Given the description of an element on the screen output the (x, y) to click on. 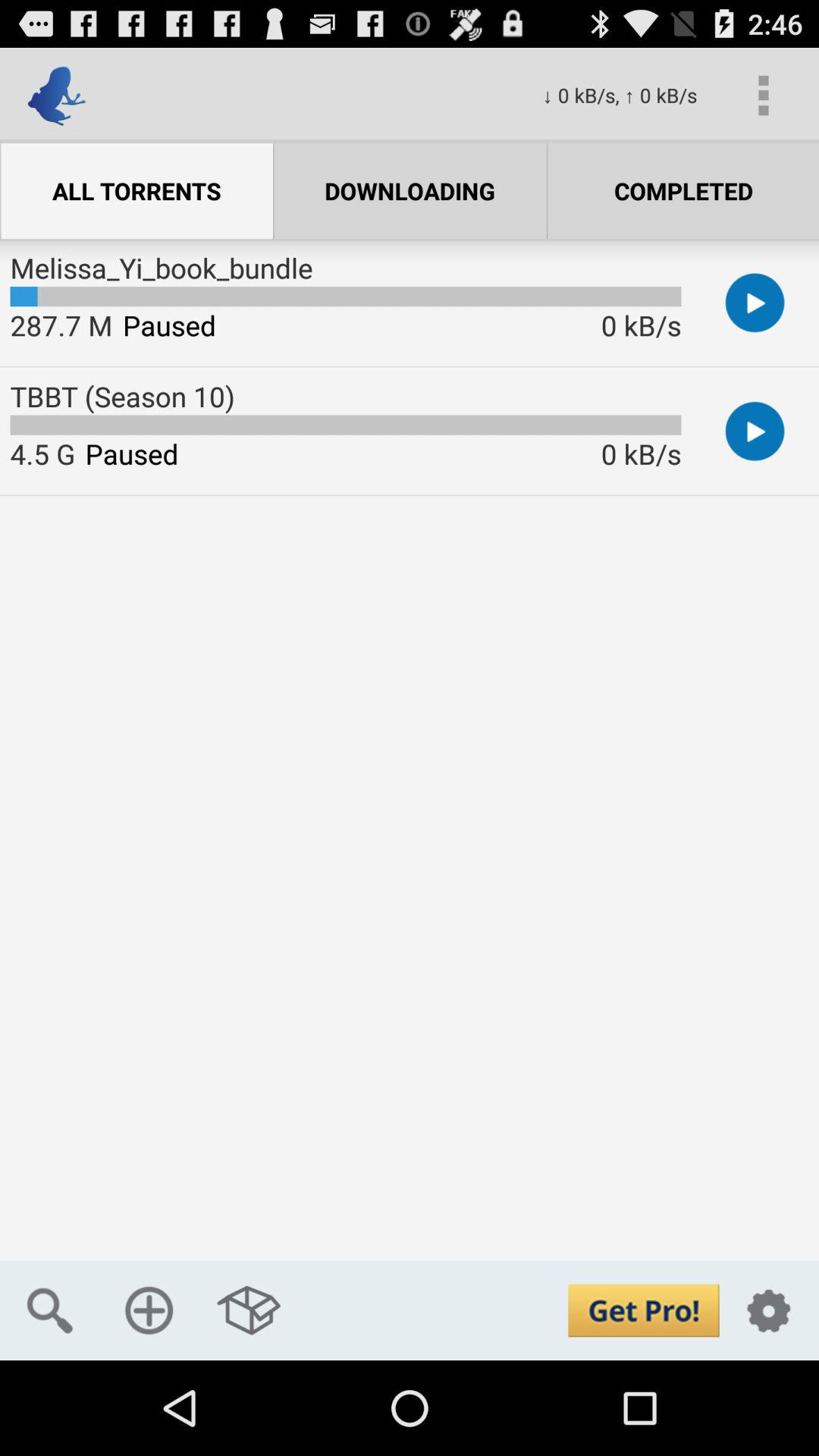
tap the item to the right of 0 kb s item (763, 95)
